Given the description of an element on the screen output the (x, y) to click on. 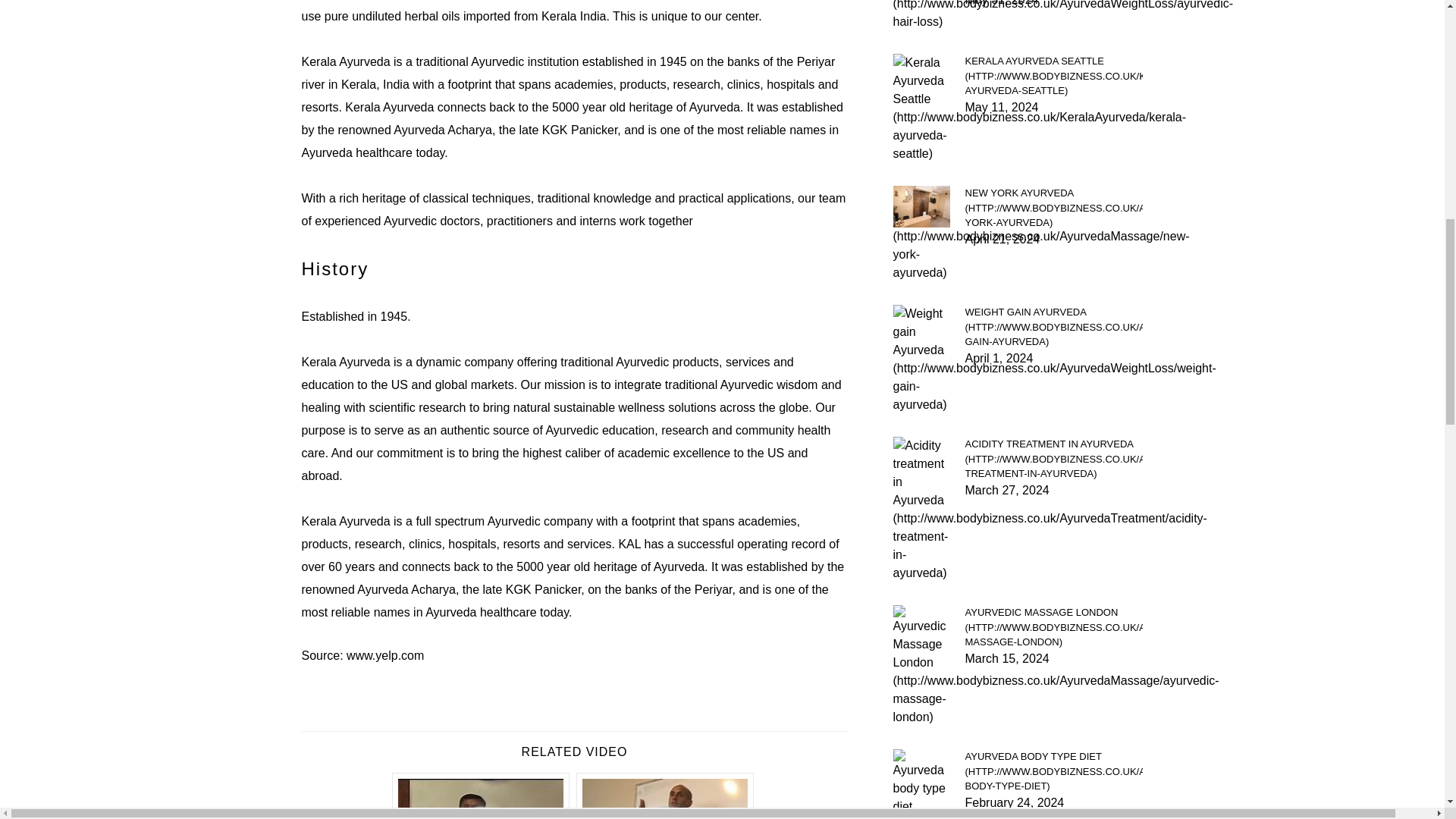
AYURVEDA BODY TYPE DIET (1052, 771)
View this video from YouTube (480, 796)
KERALA AYURVEDA SEATTLE (1052, 76)
AYURVEDIC MASSAGE LONDON (1052, 627)
NEW YORK AYURVEDA (1052, 207)
WEIGHT GAIN AYURVEDA (1052, 326)
View this video from YouTube (665, 796)
ACIDITY TREATMENT IN AYURVEDA (1052, 458)
